Given the description of an element on the screen output the (x, y) to click on. 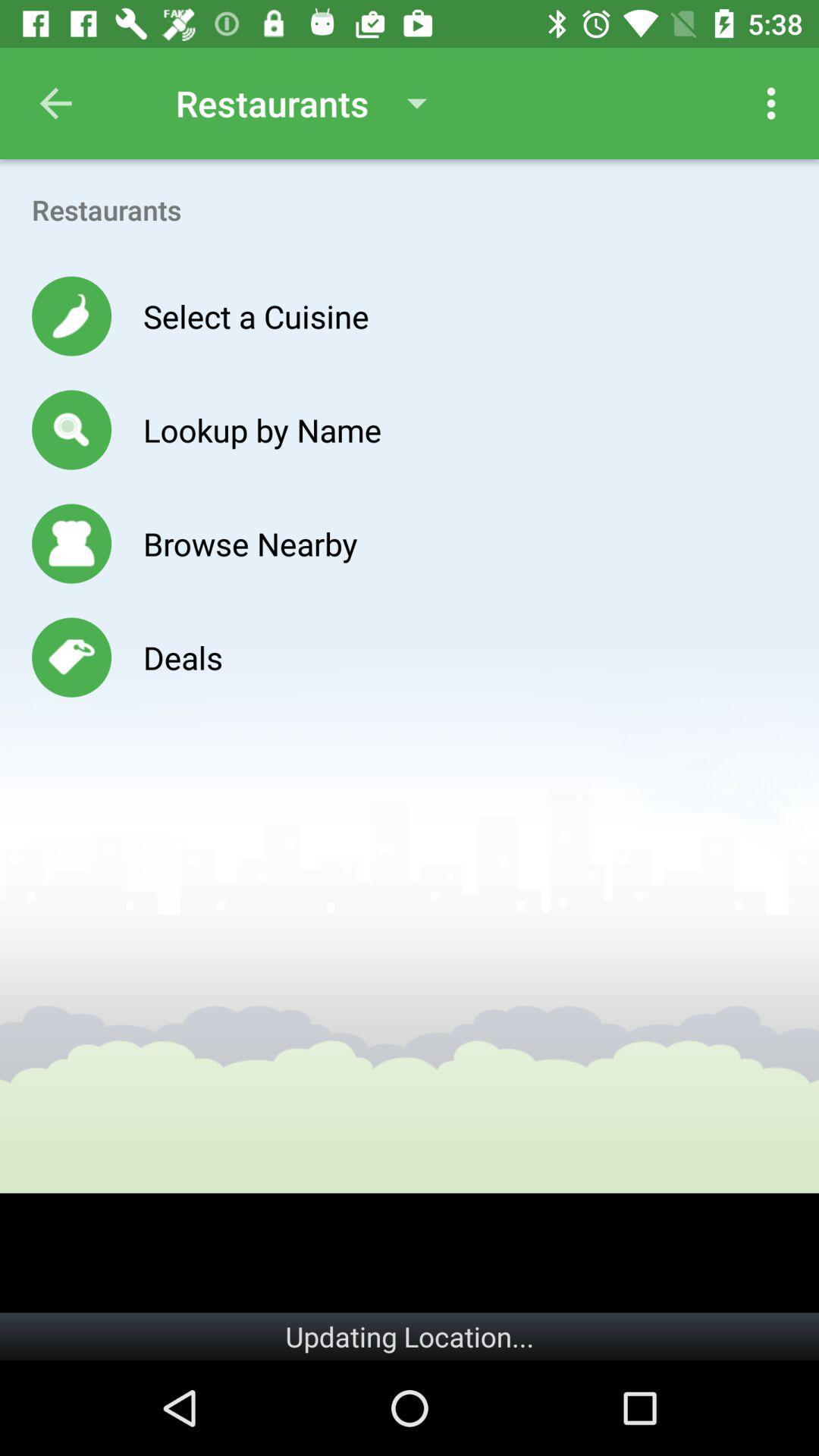
press the icon above the lookup by name icon (256, 315)
